Given the description of an element on the screen output the (x, y) to click on. 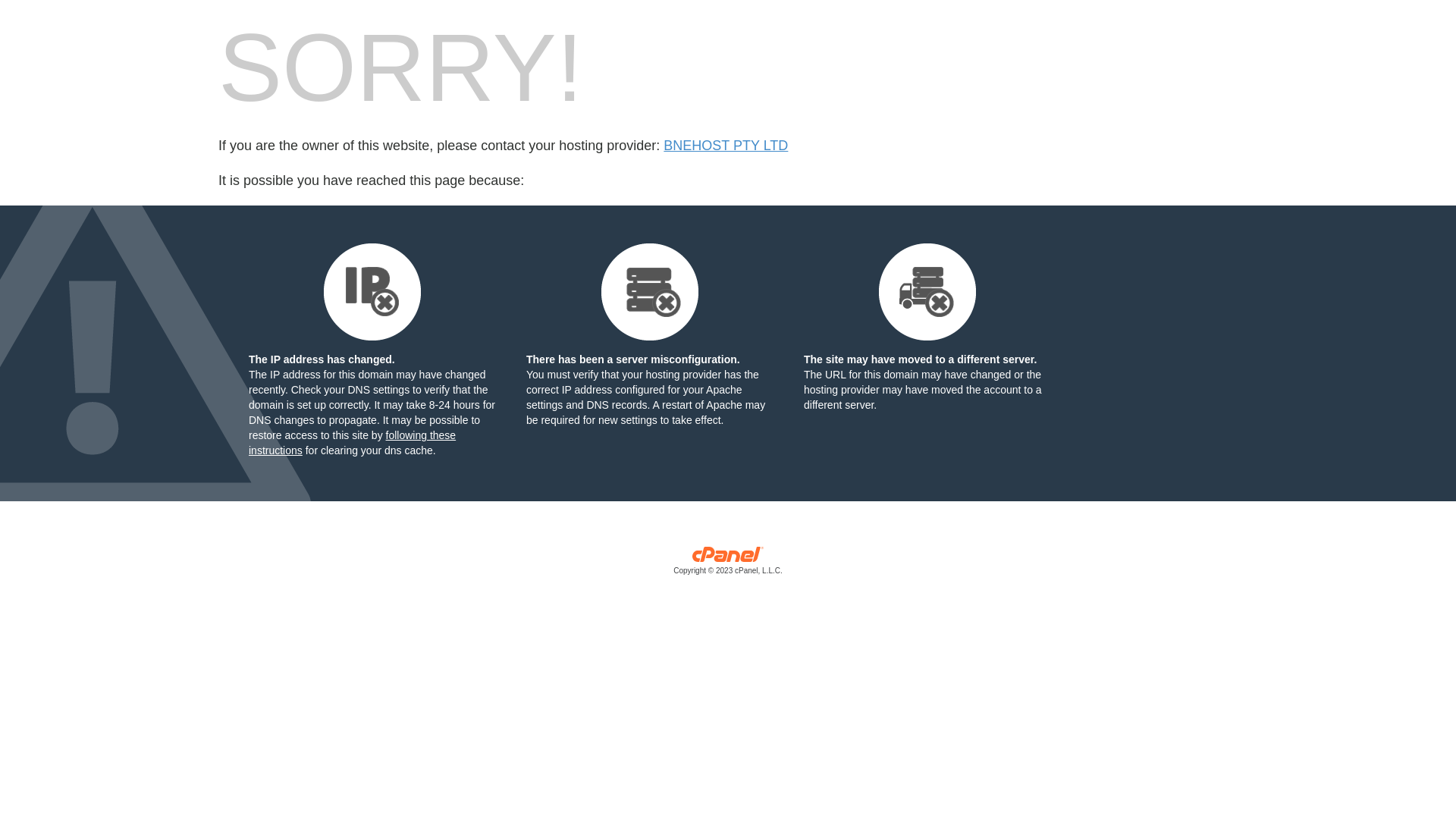
BNEHOST PTY LTD Element type: text (725, 145)
following these instructions Element type: text (351, 442)
